Given the description of an element on the screen output the (x, y) to click on. 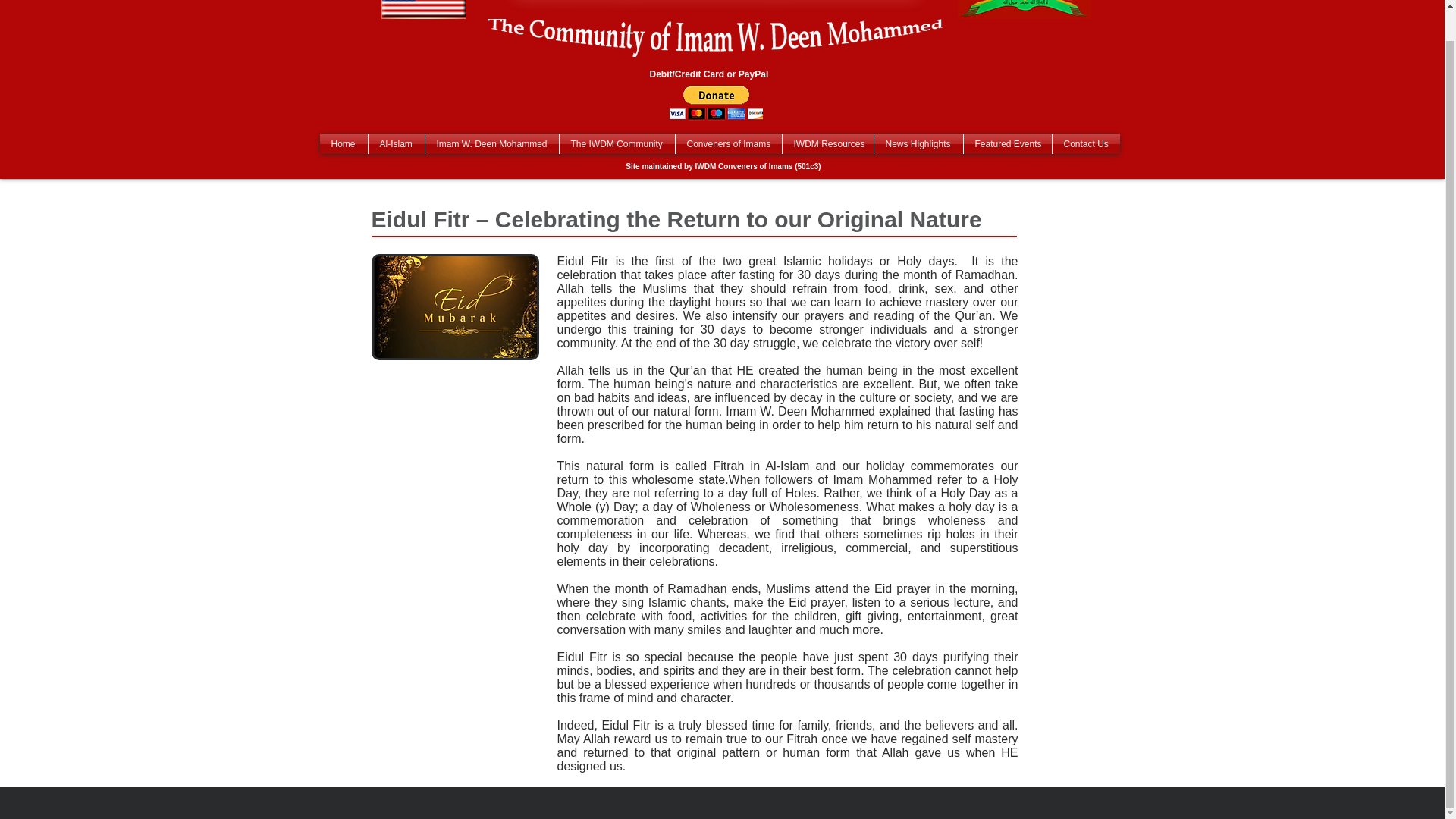
IWDM Resources (828, 143)
The IWDM Community (617, 143)
Home (344, 143)
Conveners of Imams (727, 143)
Al-Islam (396, 143)
Imam W. Deen Mohammed (491, 143)
